Given the description of an element on the screen output the (x, y) to click on. 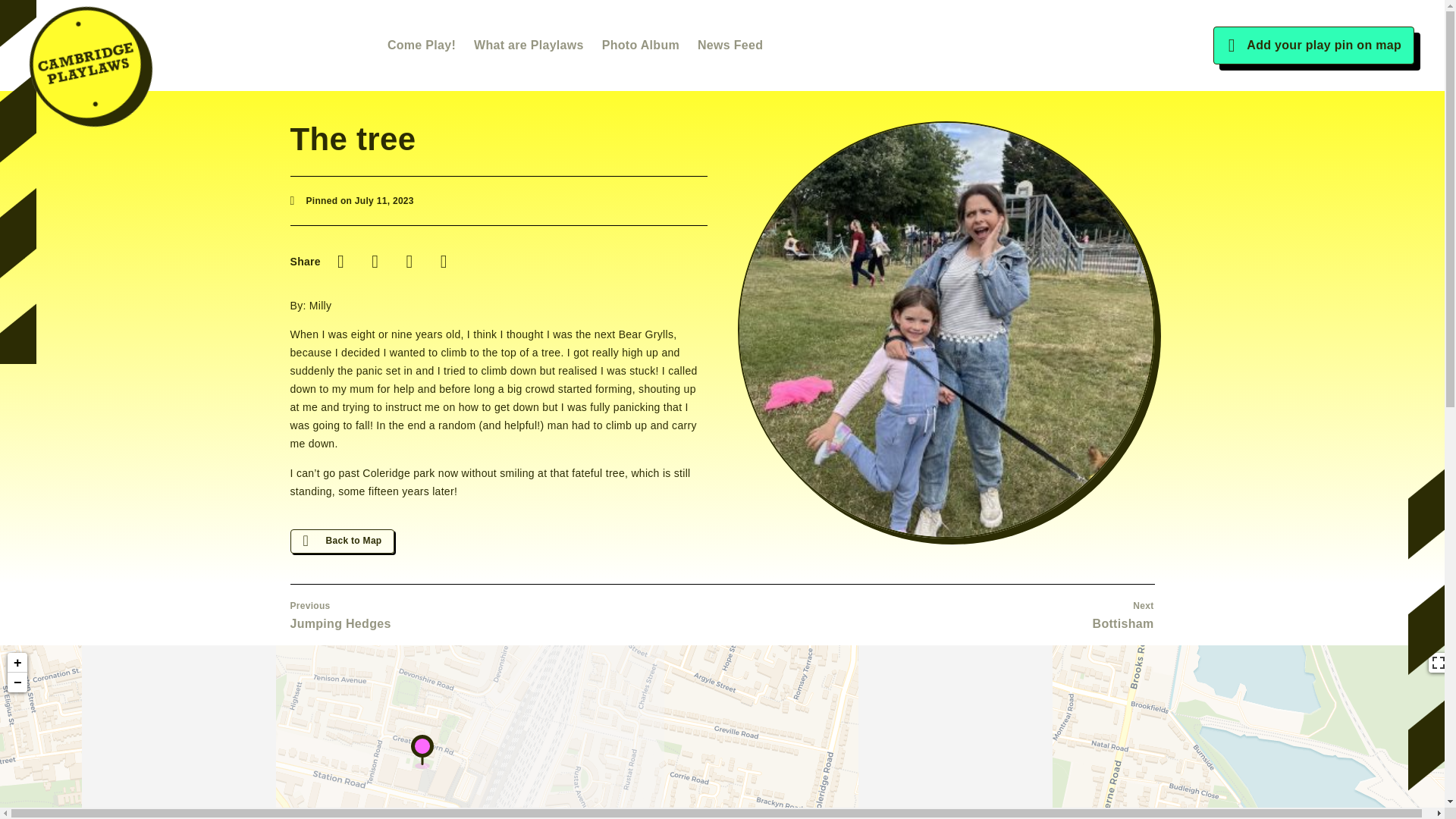
View Fullscreen (1438, 662)
What are Playlaws (528, 45)
Zoom in (17, 662)
Add your play pin on map (1310, 45)
Come Play! (421, 45)
Zoom out (17, 682)
News Feed (729, 45)
Pinned on July 11, 2023 (505, 615)
Photo Album (351, 200)
